Given the description of an element on the screen output the (x, y) to click on. 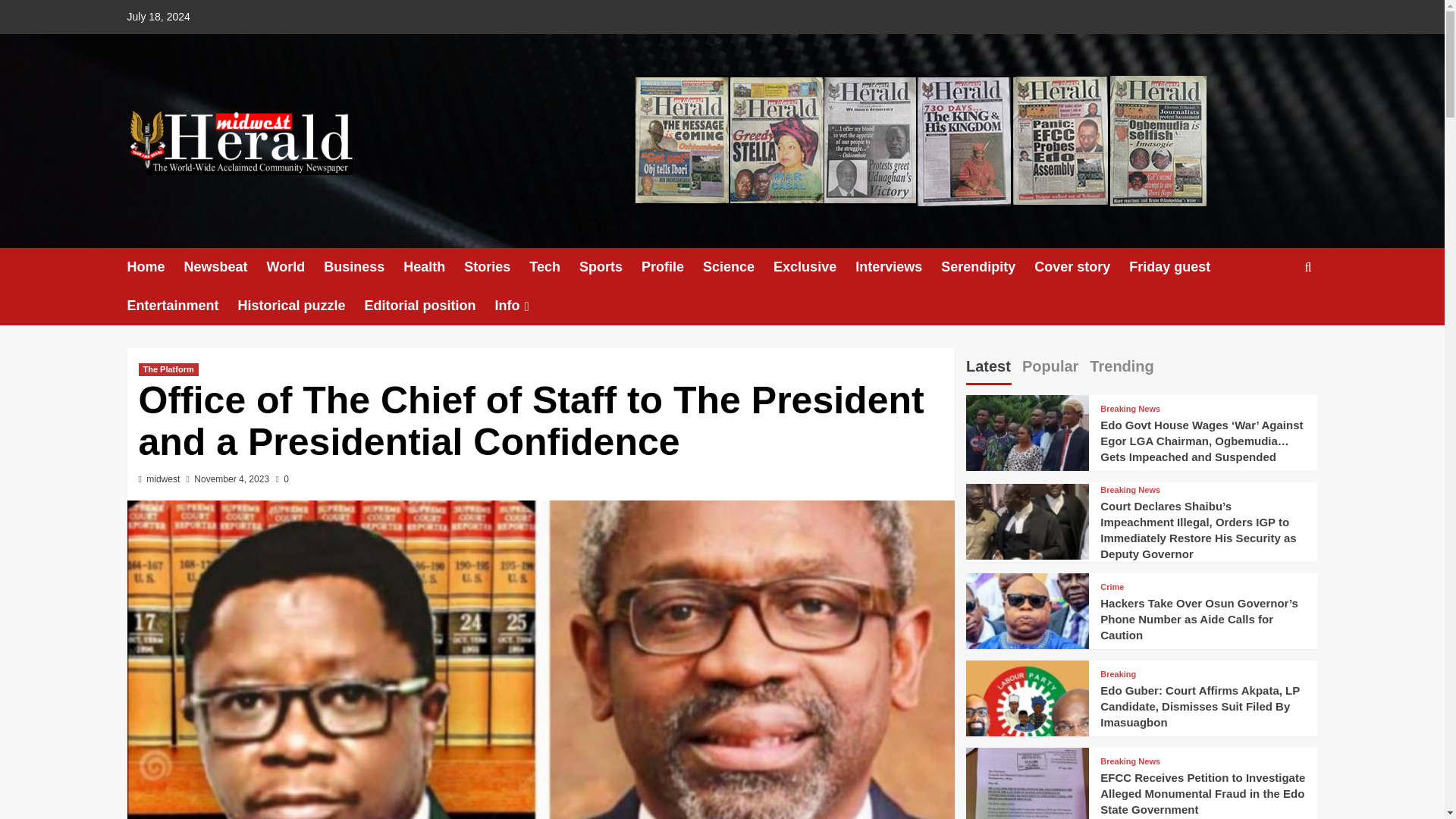
Tech (554, 267)
Friday guest (1178, 267)
Home (156, 267)
Exclusive (814, 267)
World (295, 267)
midwest (163, 479)
Business (363, 267)
Entertainment (183, 305)
Serendipity (986, 267)
Profile (672, 267)
Info (524, 305)
Health (433, 267)
November 4, 2023 (231, 479)
Sports (610, 267)
Science (738, 267)
